Given the description of an element on the screen output the (x, y) to click on. 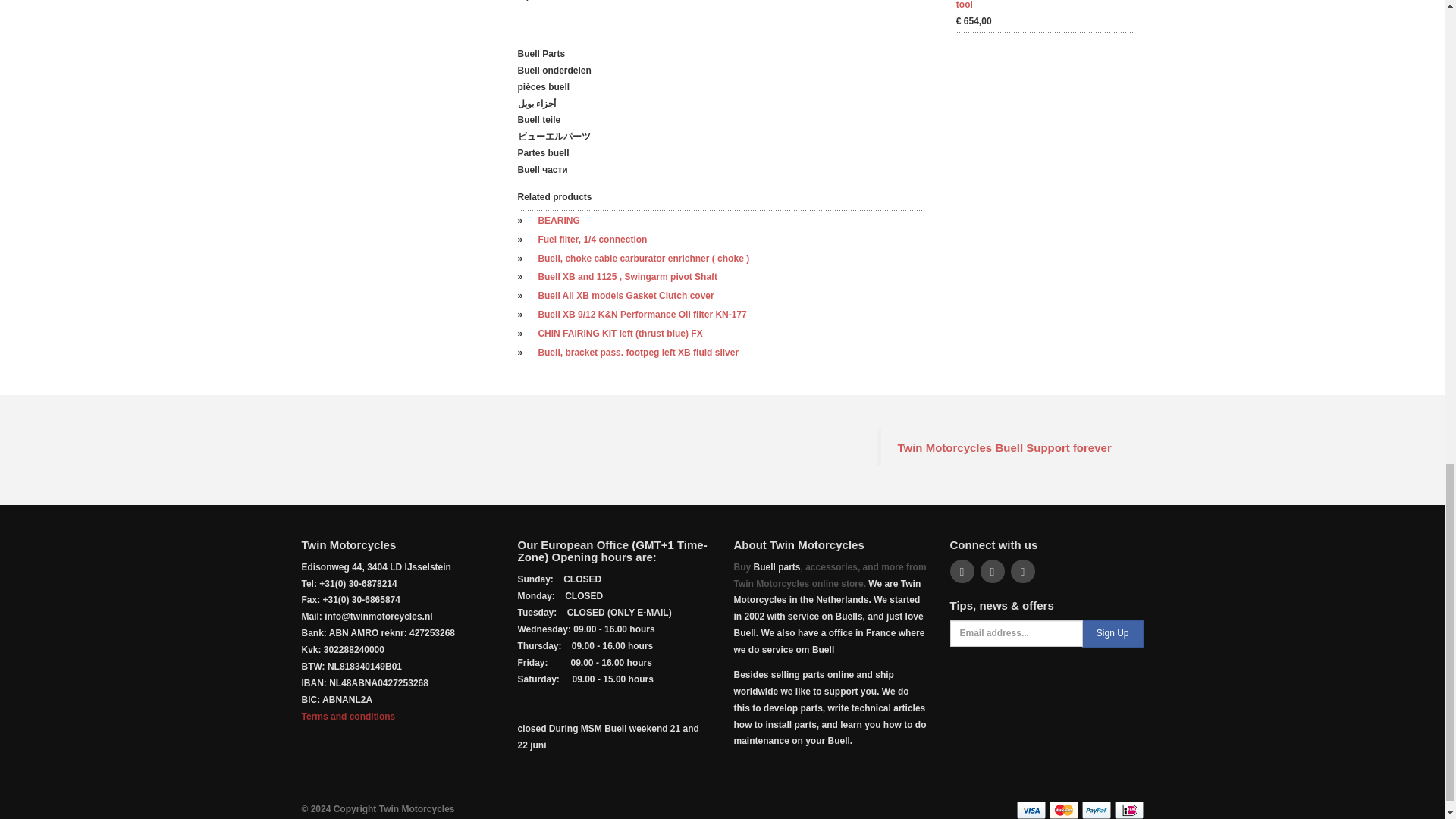
Buell All XB models Gasket Clutch cover (625, 295)
Buell XB and 1125 , Swingarm pivot Shaft (627, 276)
BEARING (558, 220)
Buell, bracket pass. footpeg left XB fluid silver (637, 352)
